Given the description of an element on the screen output the (x, y) to click on. 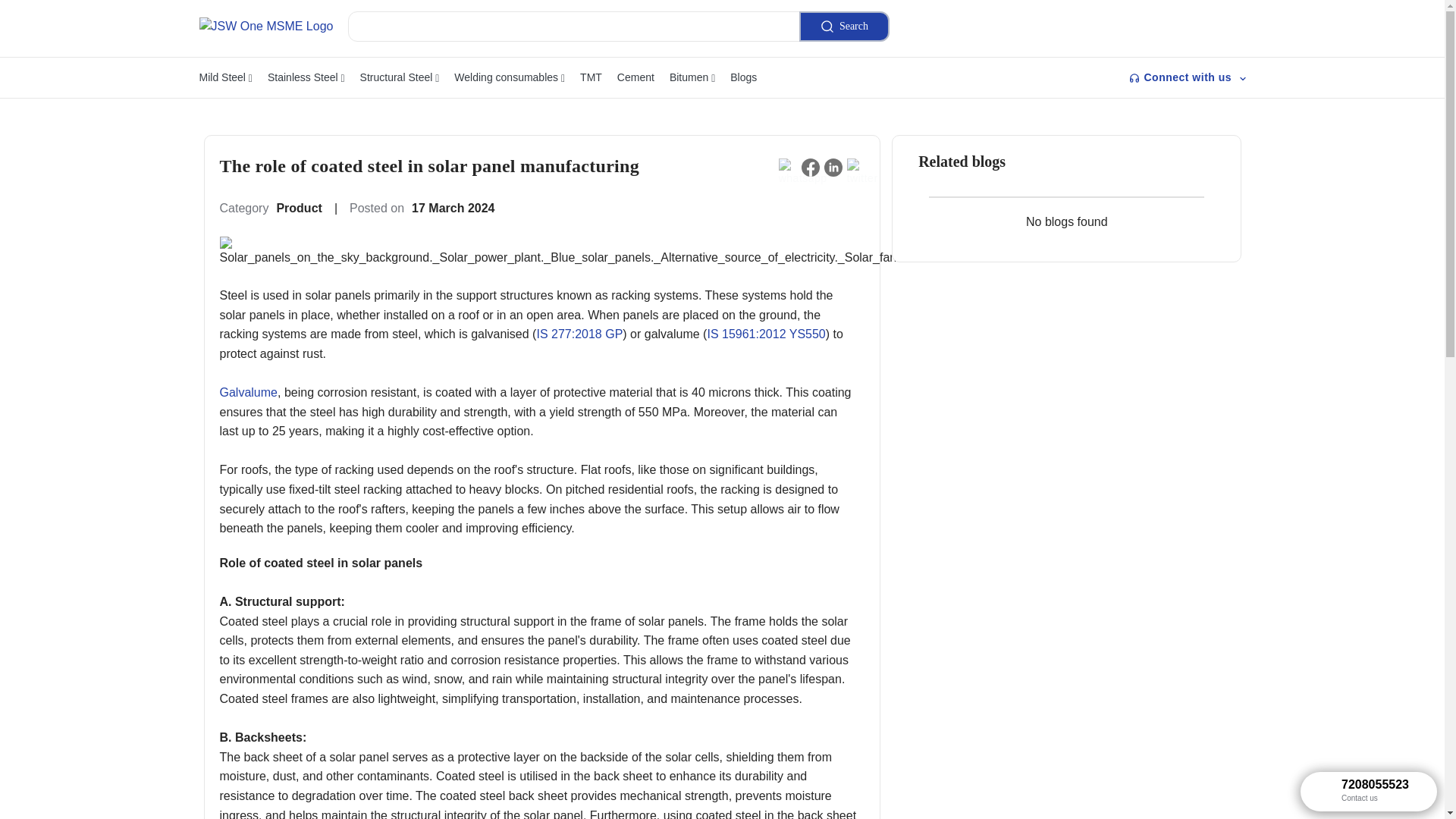
Mild Steel (224, 77)
Stainless Steel (306, 77)
Structural Steel (399, 77)
Search (844, 26)
